Given the description of an element on the screen output the (x, y) to click on. 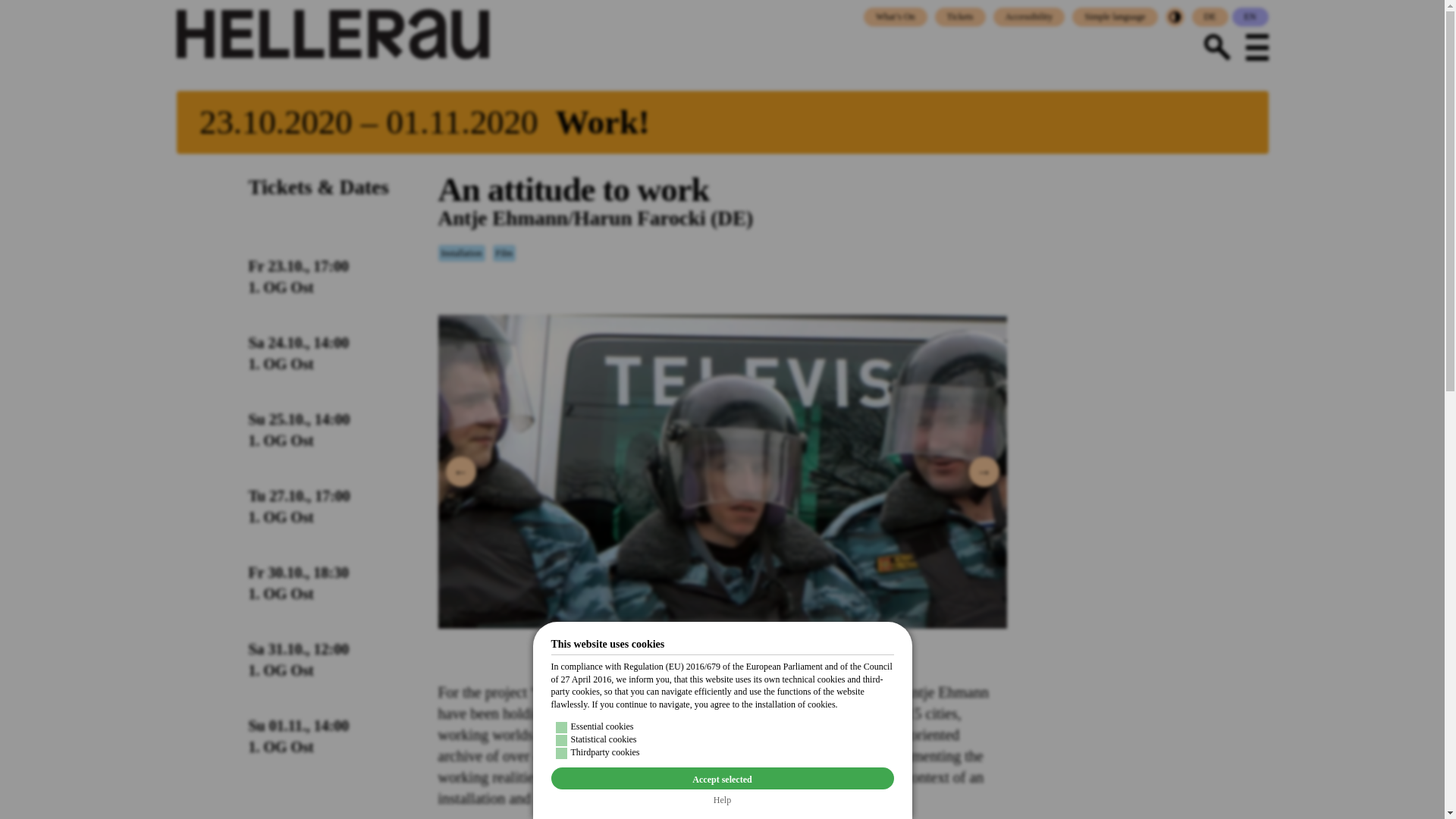
Page 2 (722, 750)
Work! (722, 121)
